Given the description of an element on the screen output the (x, y) to click on. 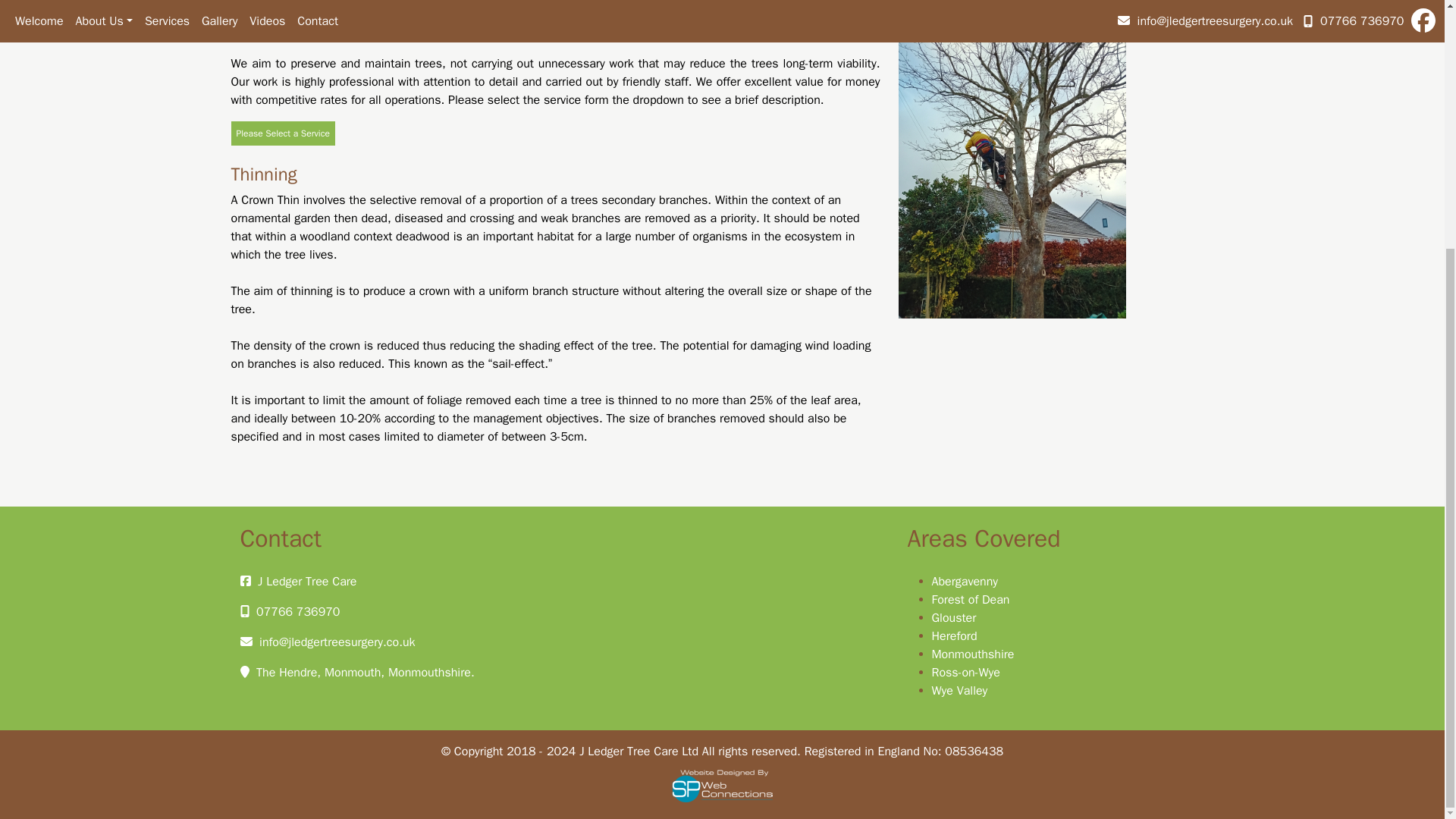
J Ledger Tree Care (306, 581)
Please Select a Service (282, 133)
